Given the description of an element on the screen output the (x, y) to click on. 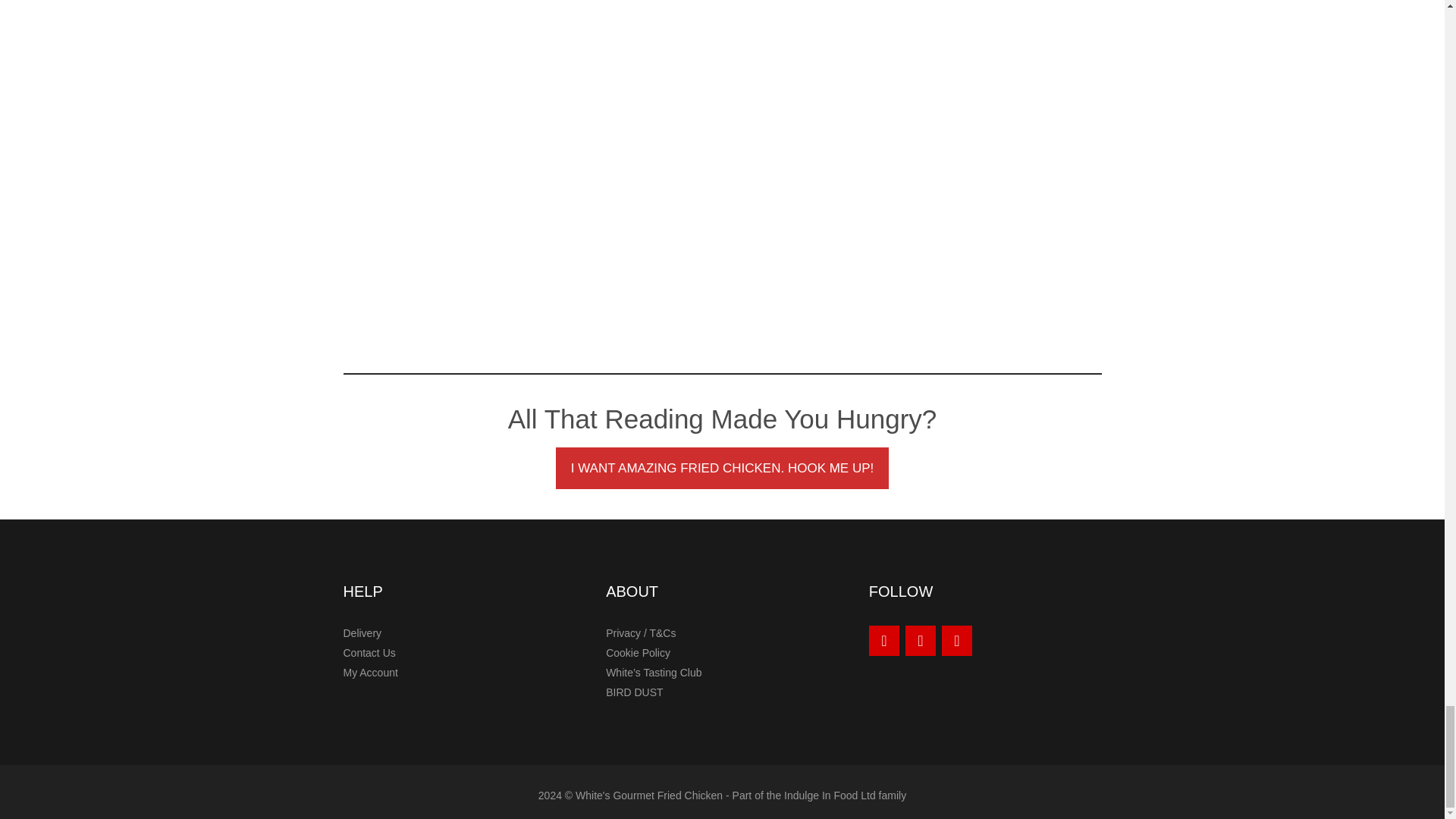
BIRD DUST (633, 692)
Cookie Policy (637, 653)
Facebook (957, 640)
Delivery (361, 633)
Contact Us (368, 653)
My Account (369, 672)
Instagram (920, 640)
I WANT AMAZING FRIED CHICKEN. HOOK ME UP! (722, 468)
YouTube (884, 640)
